Given the description of an element on the screen output the (x, y) to click on. 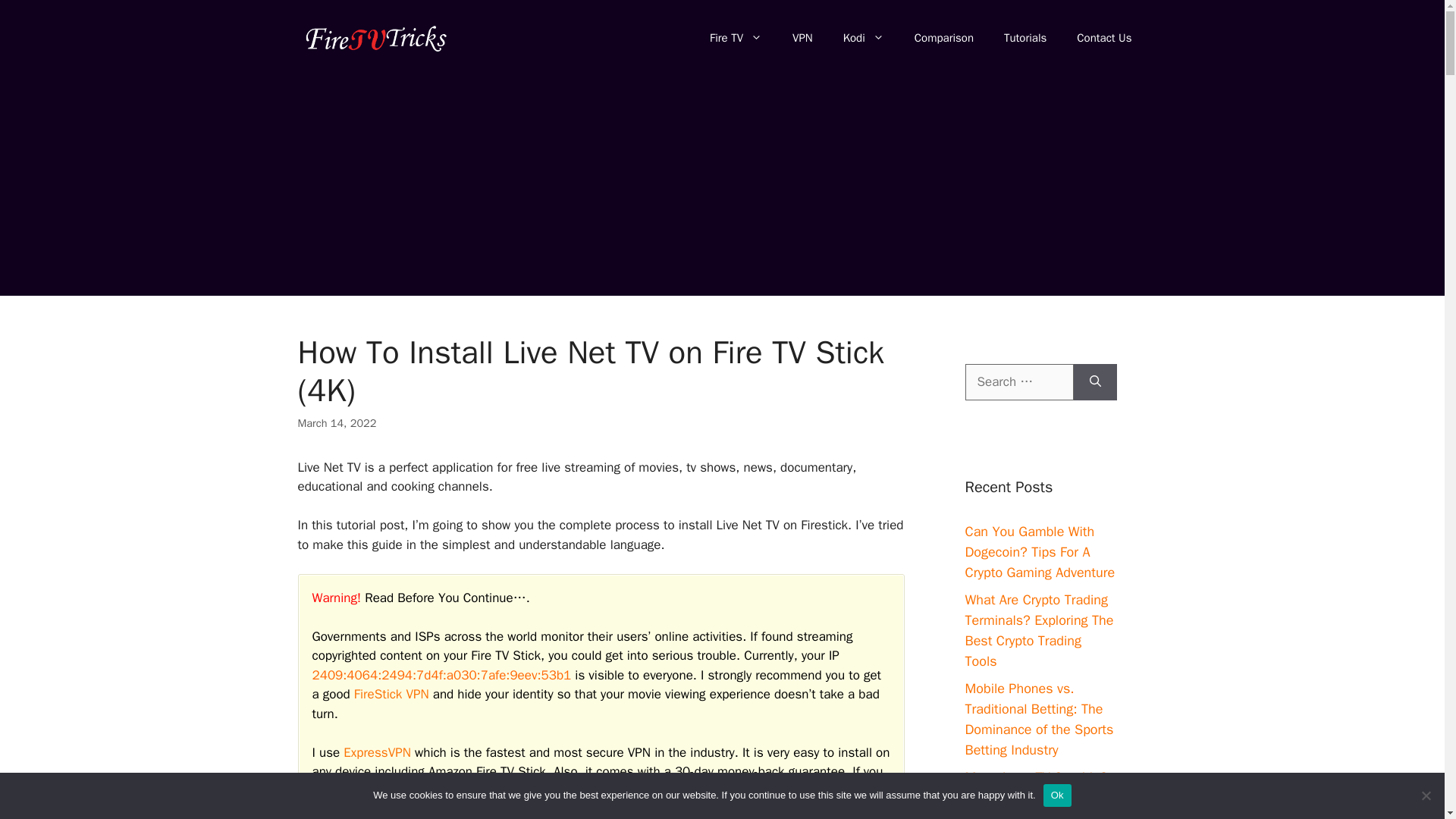
Fire TV (735, 37)
Tutorials (1024, 37)
Kodi (863, 37)
Contact Us (1104, 37)
VPN (802, 37)
Search for: (1018, 381)
ExpressVPN (376, 752)
Comparison (943, 37)
